Given the description of an element on the screen output the (x, y) to click on. 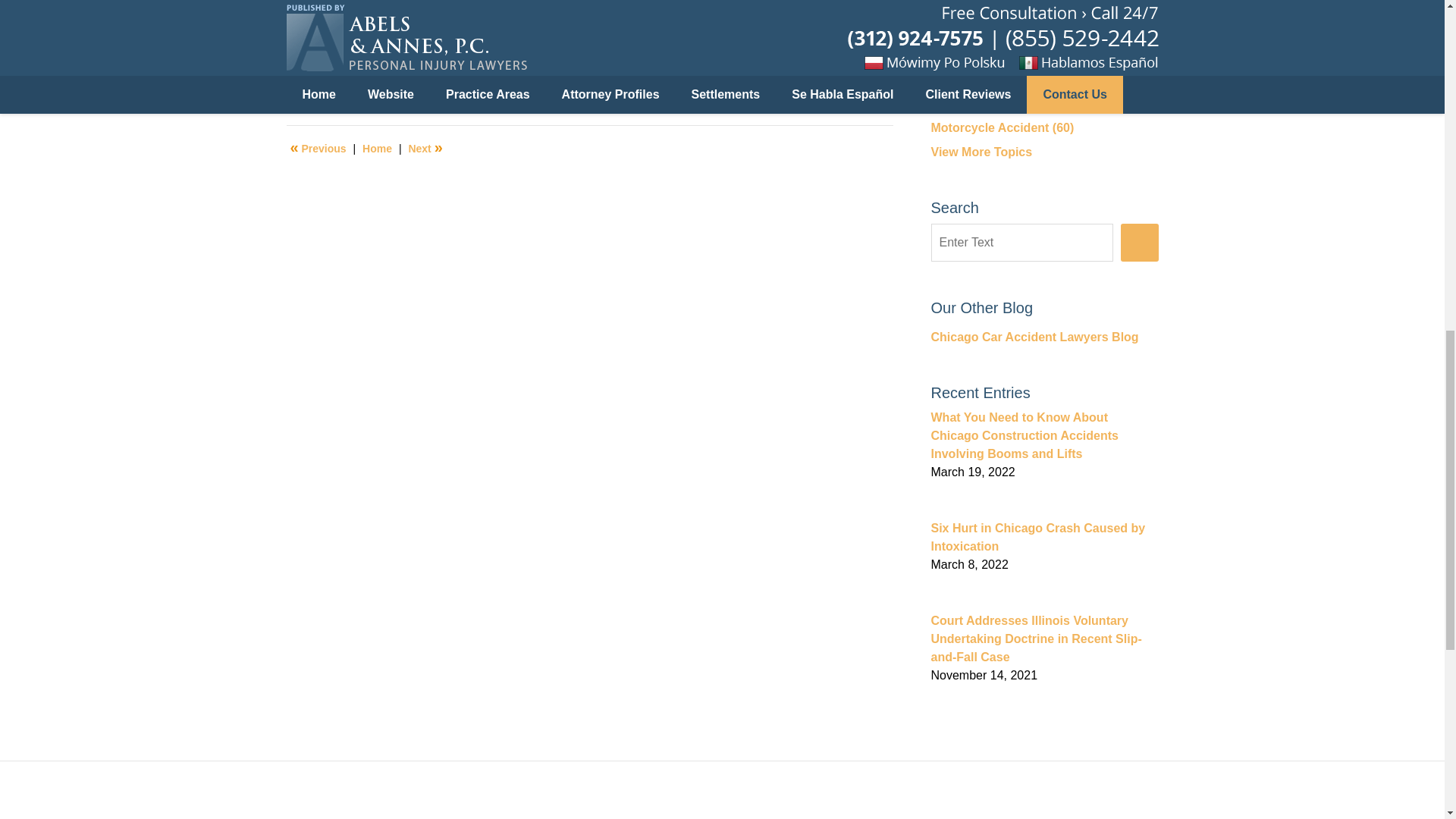
View all posts in Pedestrian Accident (430, 81)
View all posts in Auto Accident (356, 81)
View all posts in Wrongful Death (521, 81)
